Given the description of an element on the screen output the (x, y) to click on. 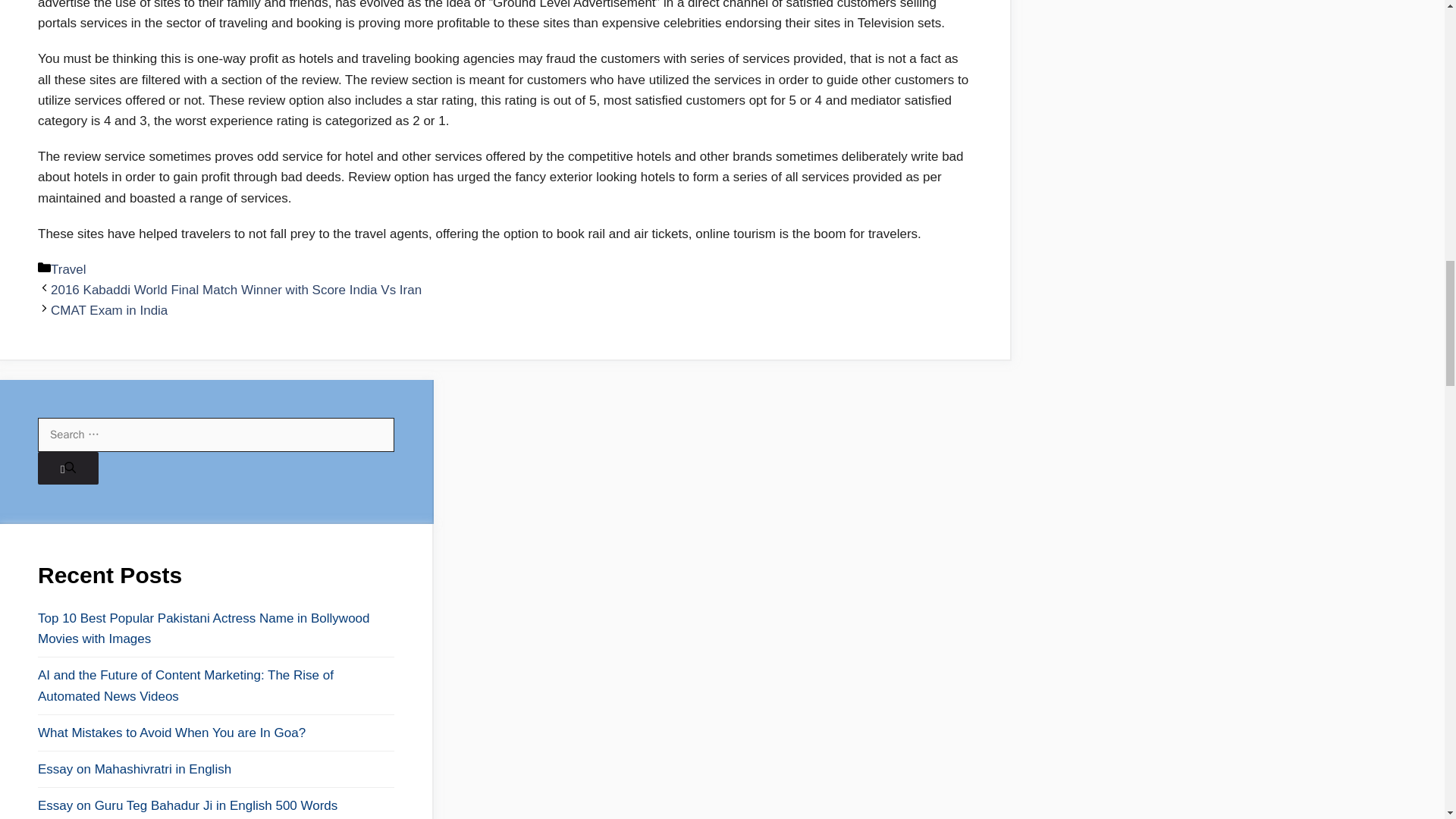
Essay on Mahashivratri in English (215, 769)
Search for: (215, 434)
Travel (67, 269)
What Mistakes to Avoid When You are In Goa? (215, 732)
CMAT Exam in India (108, 310)
Essay on Guru Teg Bahadur Ji in English 500 Words (215, 805)
